Given the description of an element on the screen output the (x, y) to click on. 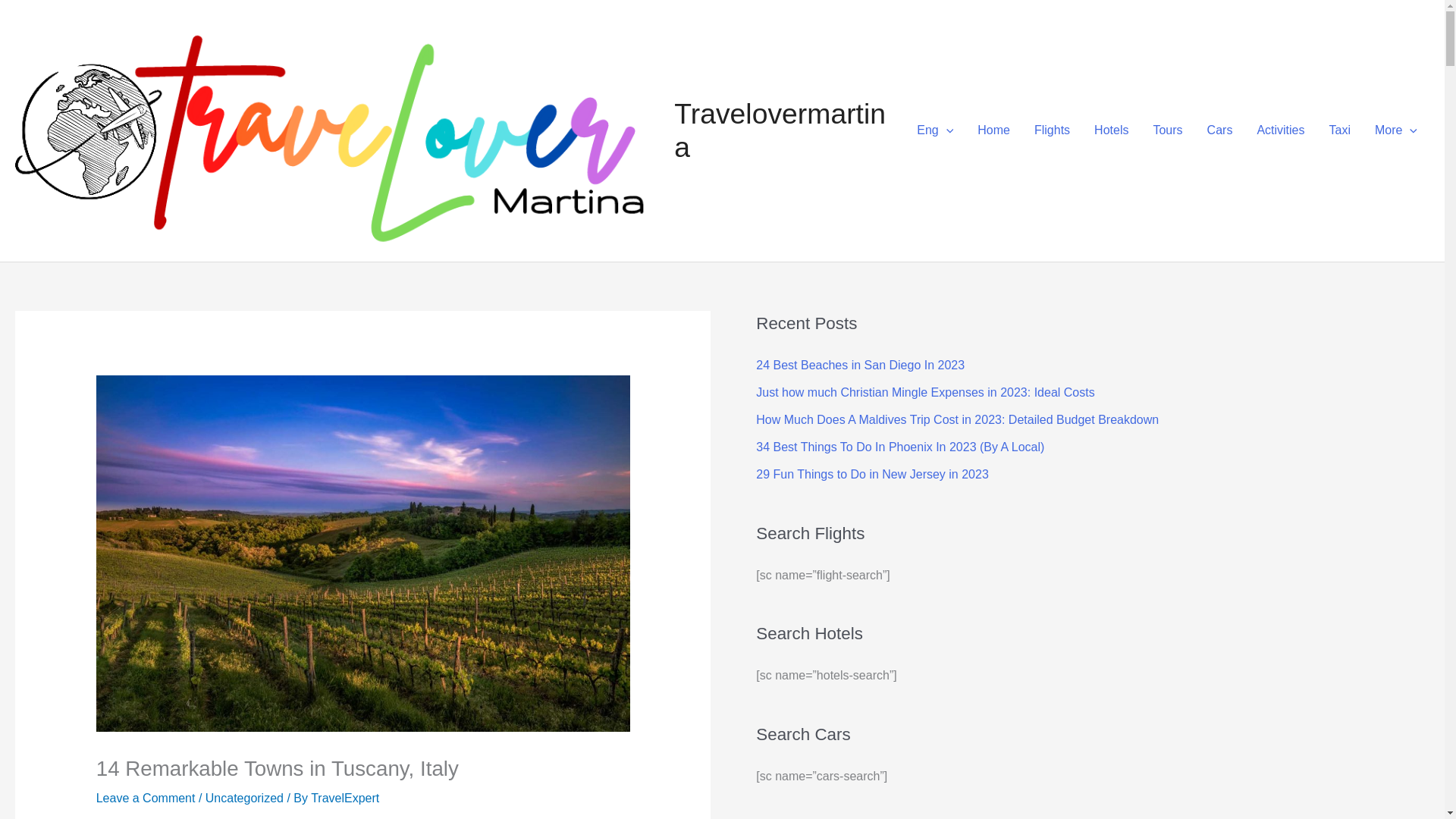
Hotels (1110, 130)
Travelovermartina (779, 130)
Activities (1280, 130)
Flights (1051, 130)
Taxi (1338, 130)
Tours (1166, 130)
Cars (1219, 130)
More (1395, 130)
Eng (934, 130)
View all posts by TravelExpert (344, 797)
Home (993, 130)
